Given the description of an element on the screen output the (x, y) to click on. 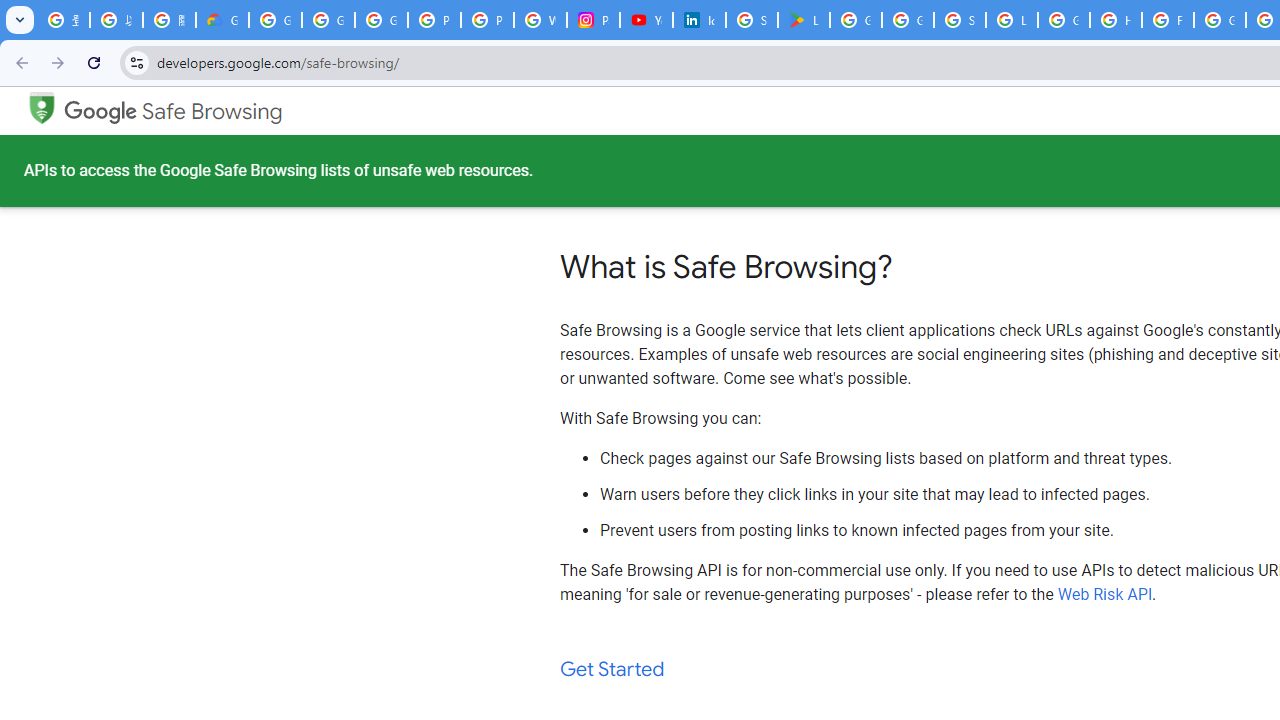
Privacy Help Center - Policies Help (487, 20)
Web Risk API (1105, 594)
Google Safe Browsing (41, 106)
Google Safe Browsing (173, 111)
Google Workspace - Specific Terms (907, 20)
